Given the description of an element on the screen output the (x, y) to click on. 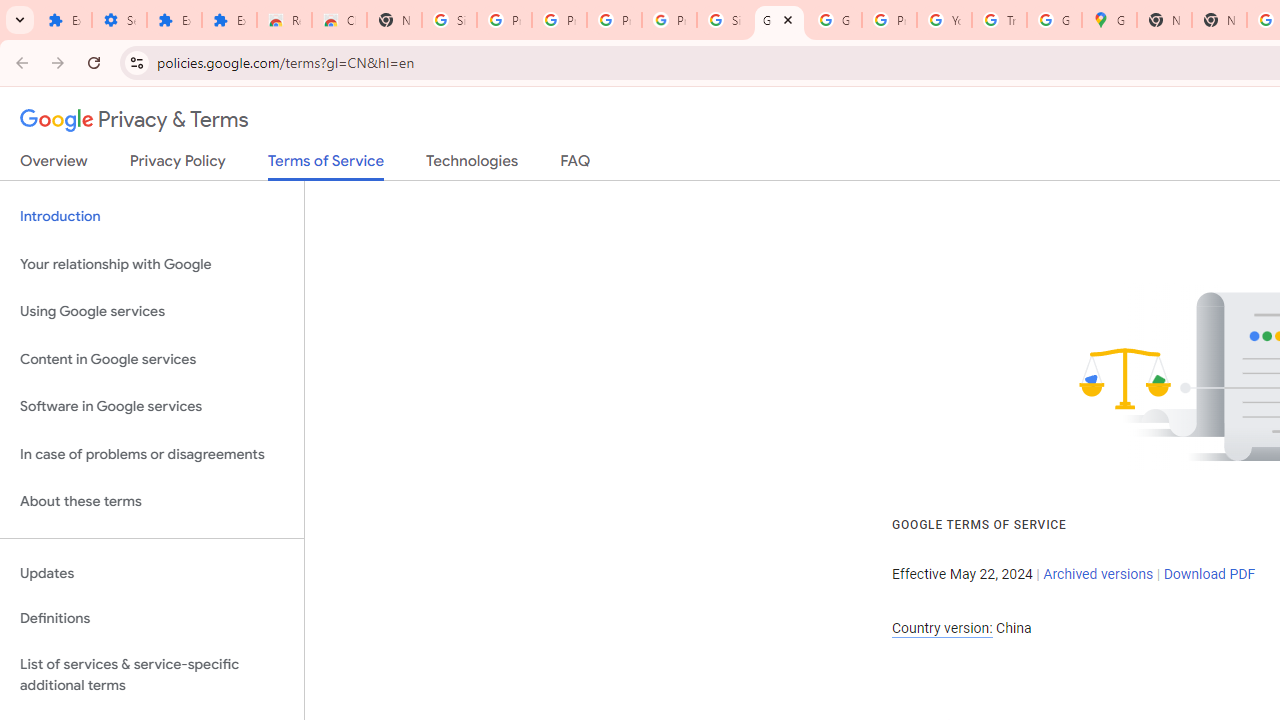
Technologies (472, 165)
New Tab (1218, 20)
Sign in - Google Accounts (724, 20)
Country version: (942, 628)
Using Google services (152, 312)
Definitions (152, 619)
Chrome Web Store - Themes (339, 20)
Extensions (174, 20)
List of services & service-specific additional terms (152, 674)
